Given the description of an element on the screen output the (x, y) to click on. 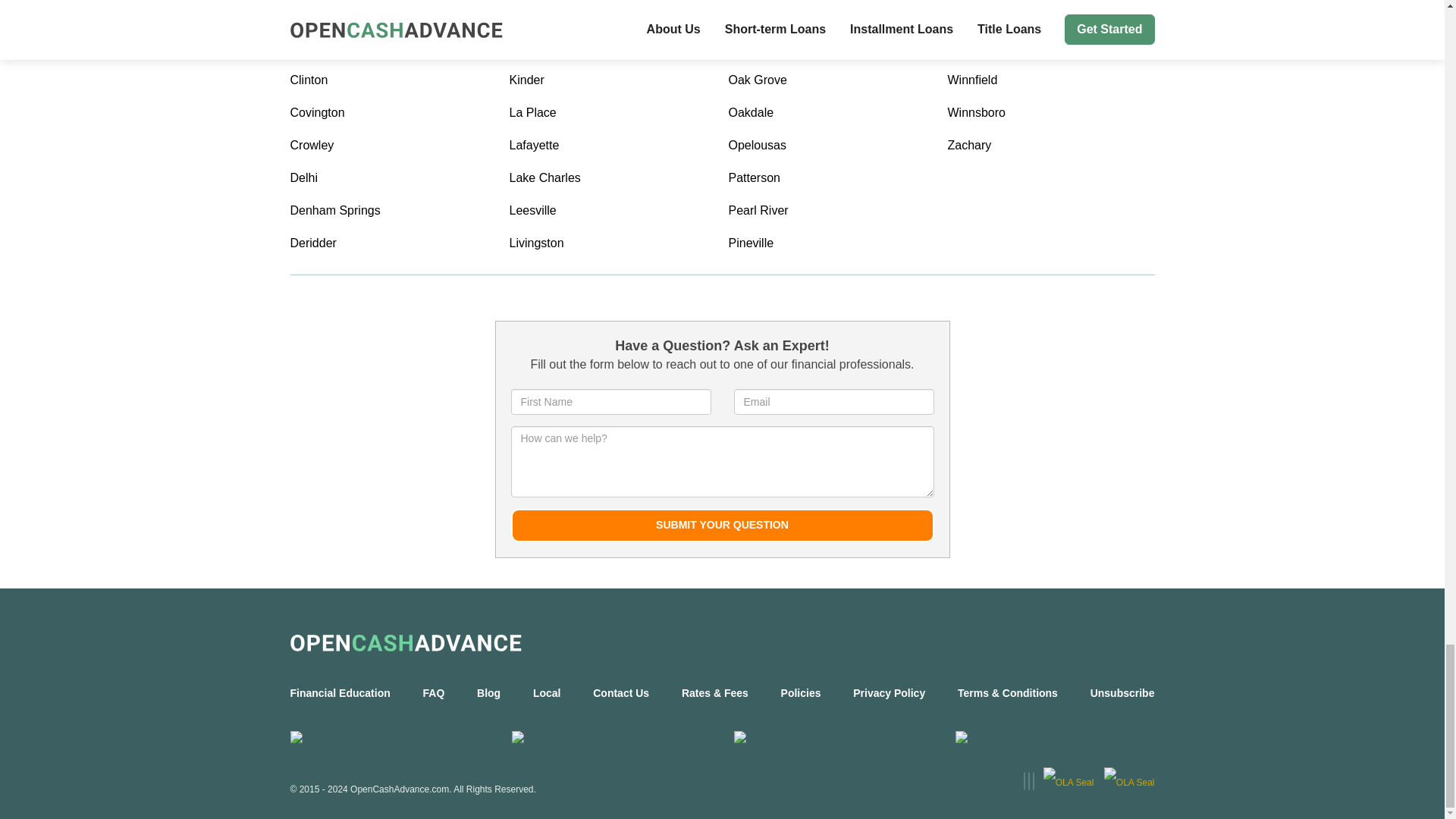
Bunkie (392, 16)
